Given the description of an element on the screen output the (x, y) to click on. 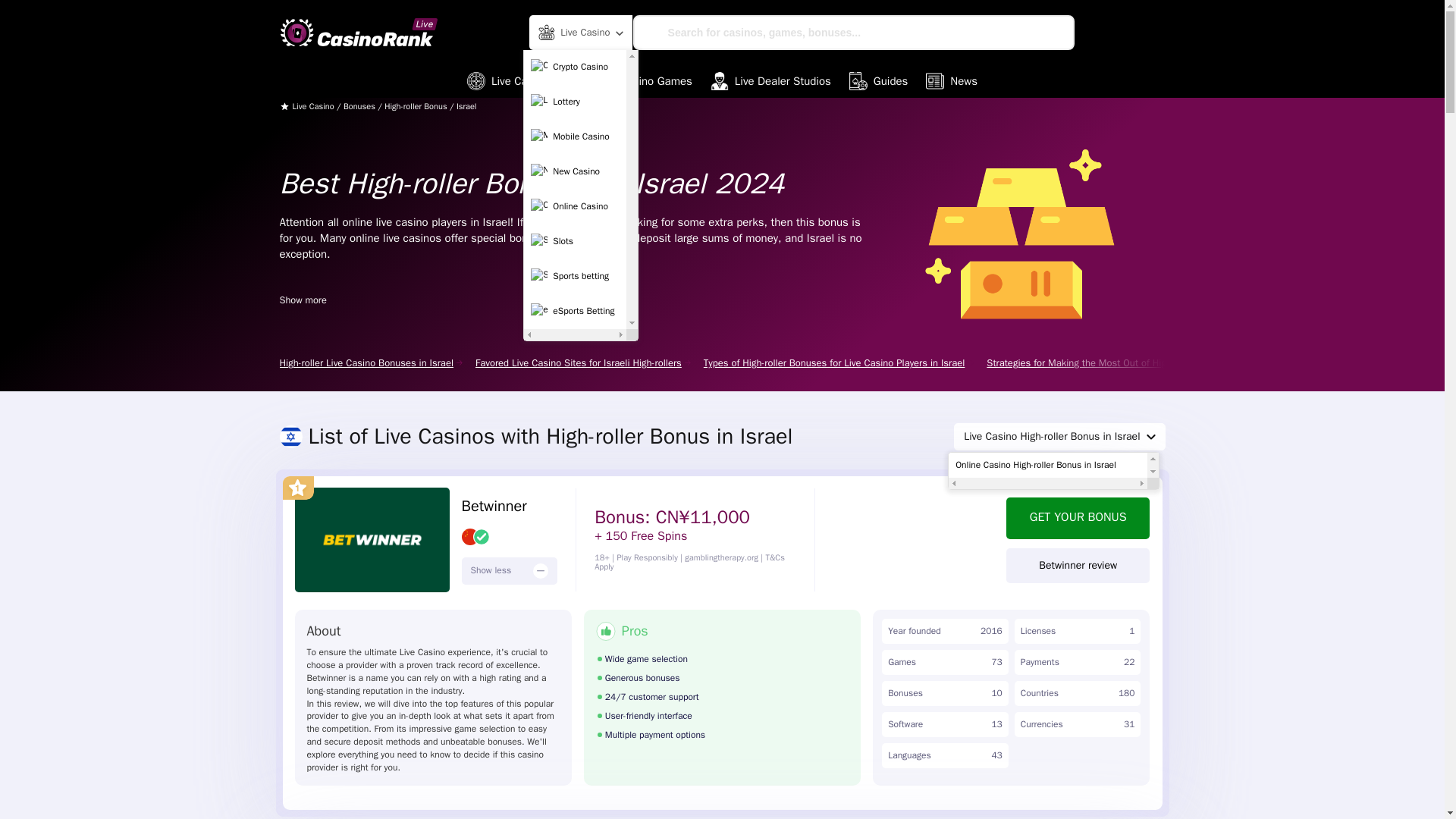
Mobile Casino (575, 136)
Sports betting (575, 276)
Slots (575, 241)
Crypto Casino (575, 67)
Live Casinos (510, 80)
Online Casino (575, 206)
New Casino (575, 172)
Lottery (575, 102)
Live Casino Games (632, 80)
eSports Betting (575, 311)
